Given the description of an element on the screen output the (x, y) to click on. 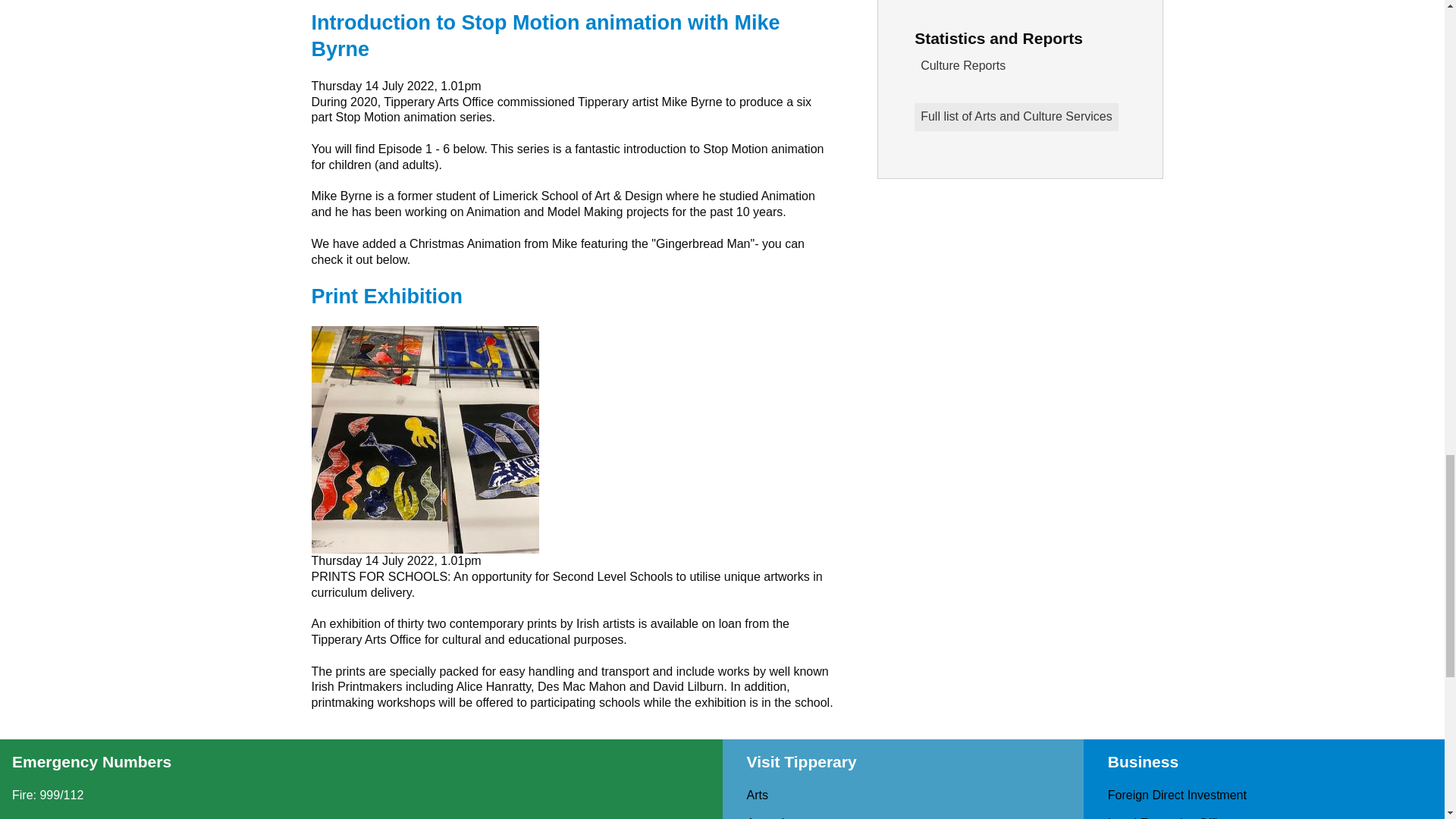
Full list of Arts and Culture Services (1016, 117)
Culture Reports (1019, 66)
Print Exhibition (387, 296)
Introduction to Stop Motion animation with Mike Byrne (544, 35)
